Given the description of an element on the screen output the (x, y) to click on. 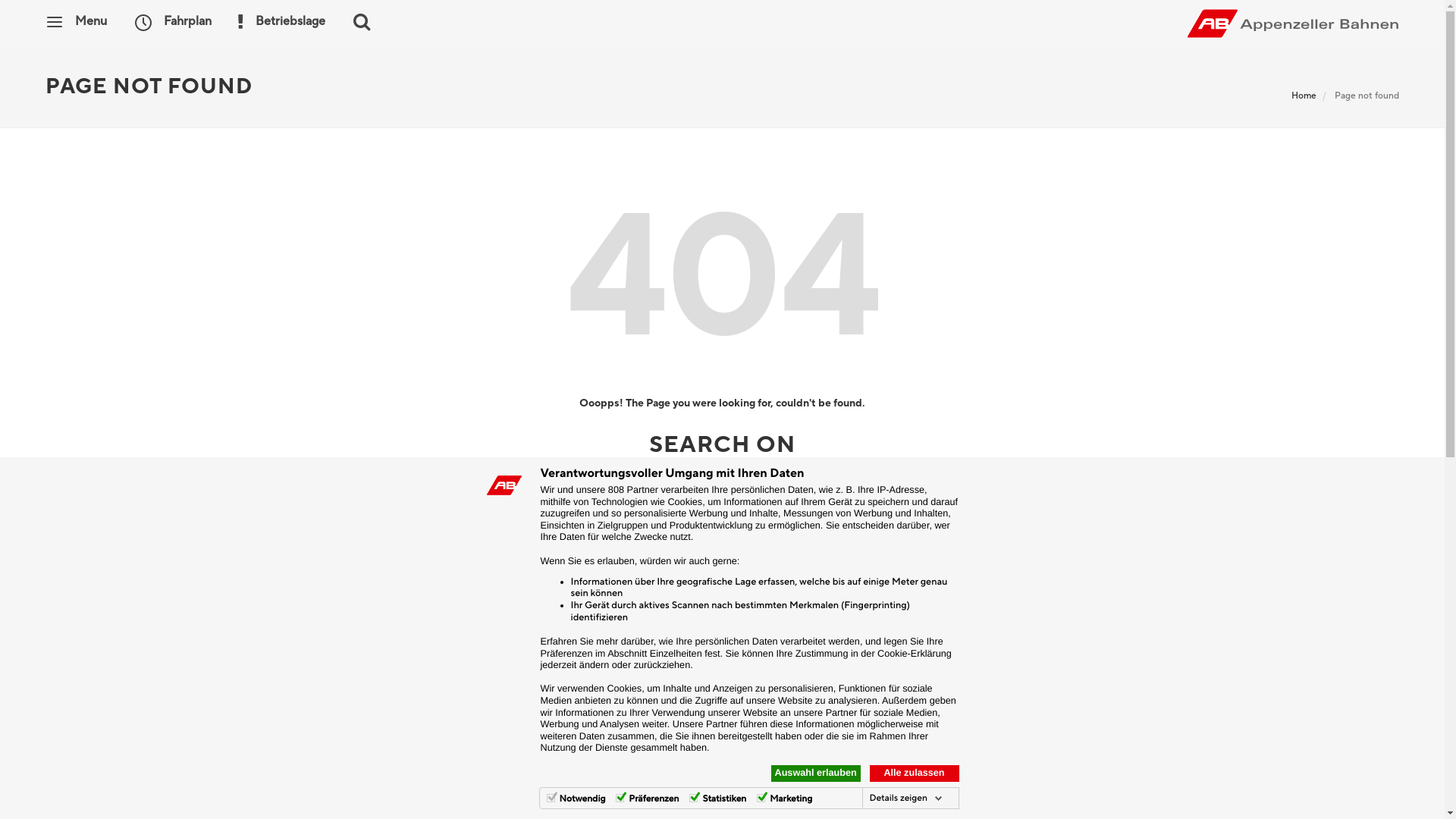
Alle zulassen Element type: text (913, 773)
Home Element type: text (1303, 95)
Details zeigen Element type: text (905, 798)
unsere 808 Partner Element type: text (617, 489)
Auswahl erlauben Element type: text (814, 773)
Abschnitt Einzelheiten Element type: text (654, 653)
